Given the description of an element on the screen output the (x, y) to click on. 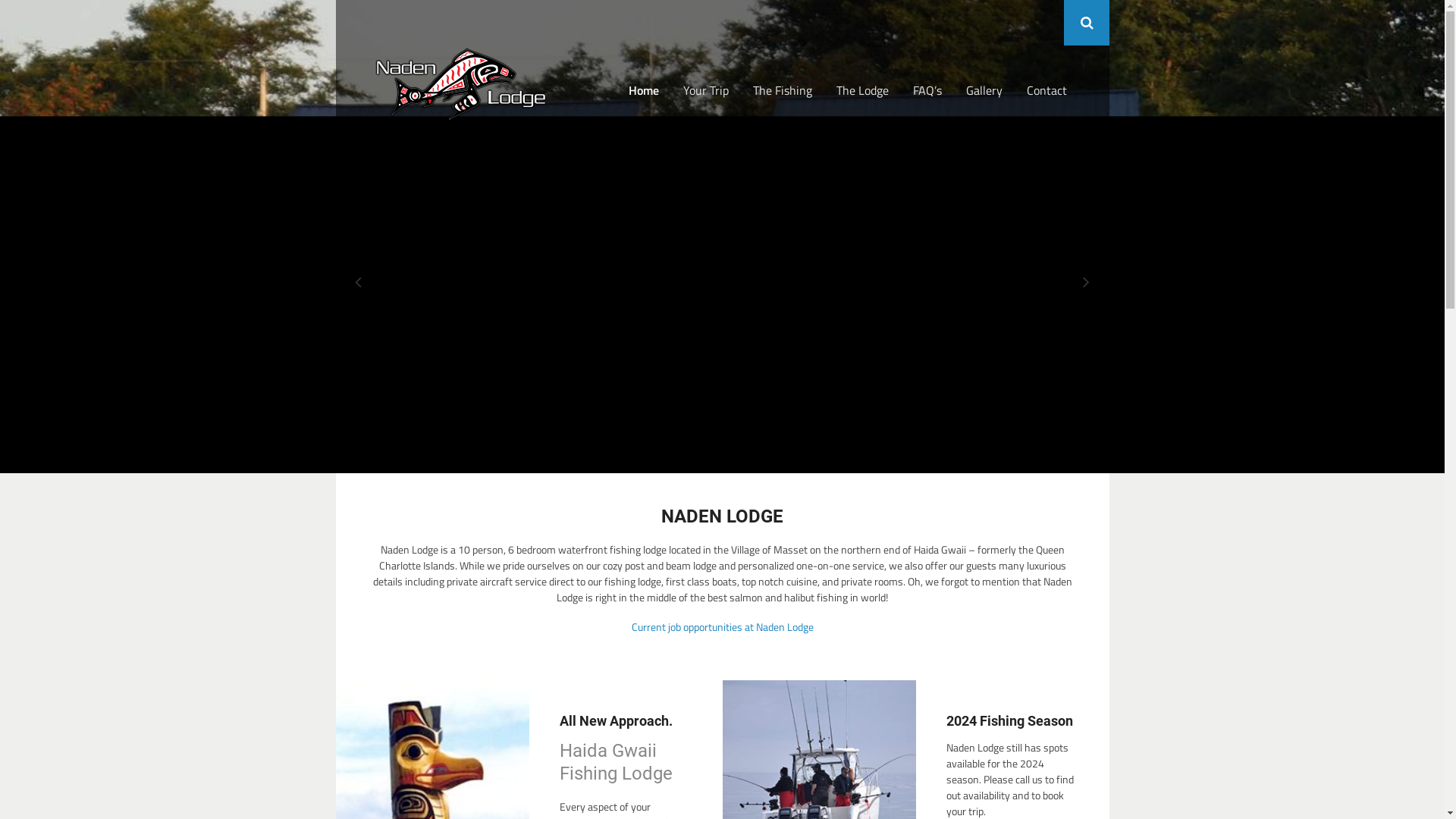
Current job opportunities at Naden Lodge Element type: text (721, 626)
Home Element type: text (642, 89)
The Fishing Element type: text (781, 89)
Your Trip Element type: text (705, 89)
Gallery Element type: text (983, 89)
Contact Element type: text (1046, 89)
The Lodge Element type: text (861, 89)
